Given the description of an element on the screen output the (x, y) to click on. 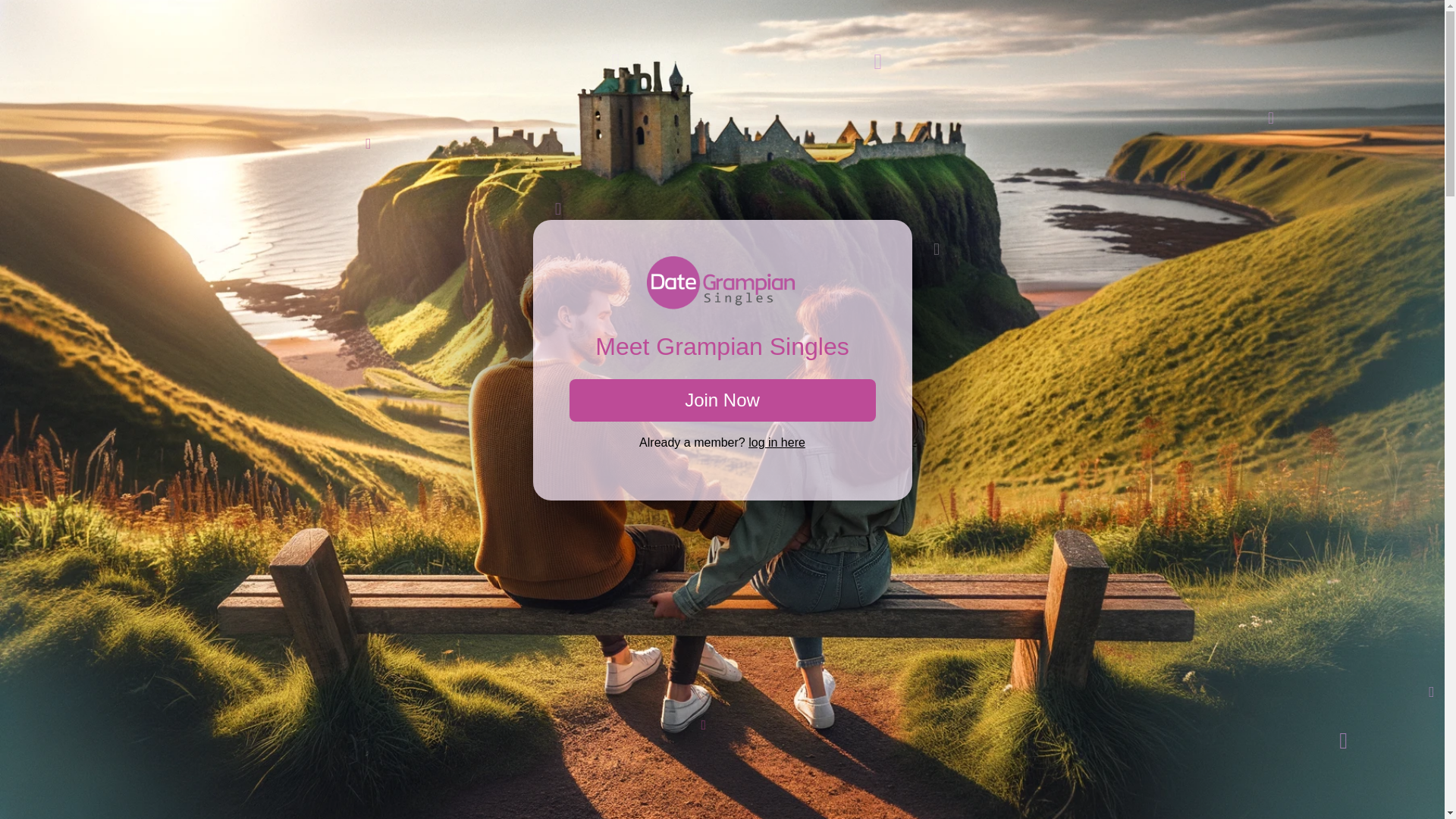
Join Now (722, 400)
log in here (776, 441)
